Given the description of an element on the screen output the (x, y) to click on. 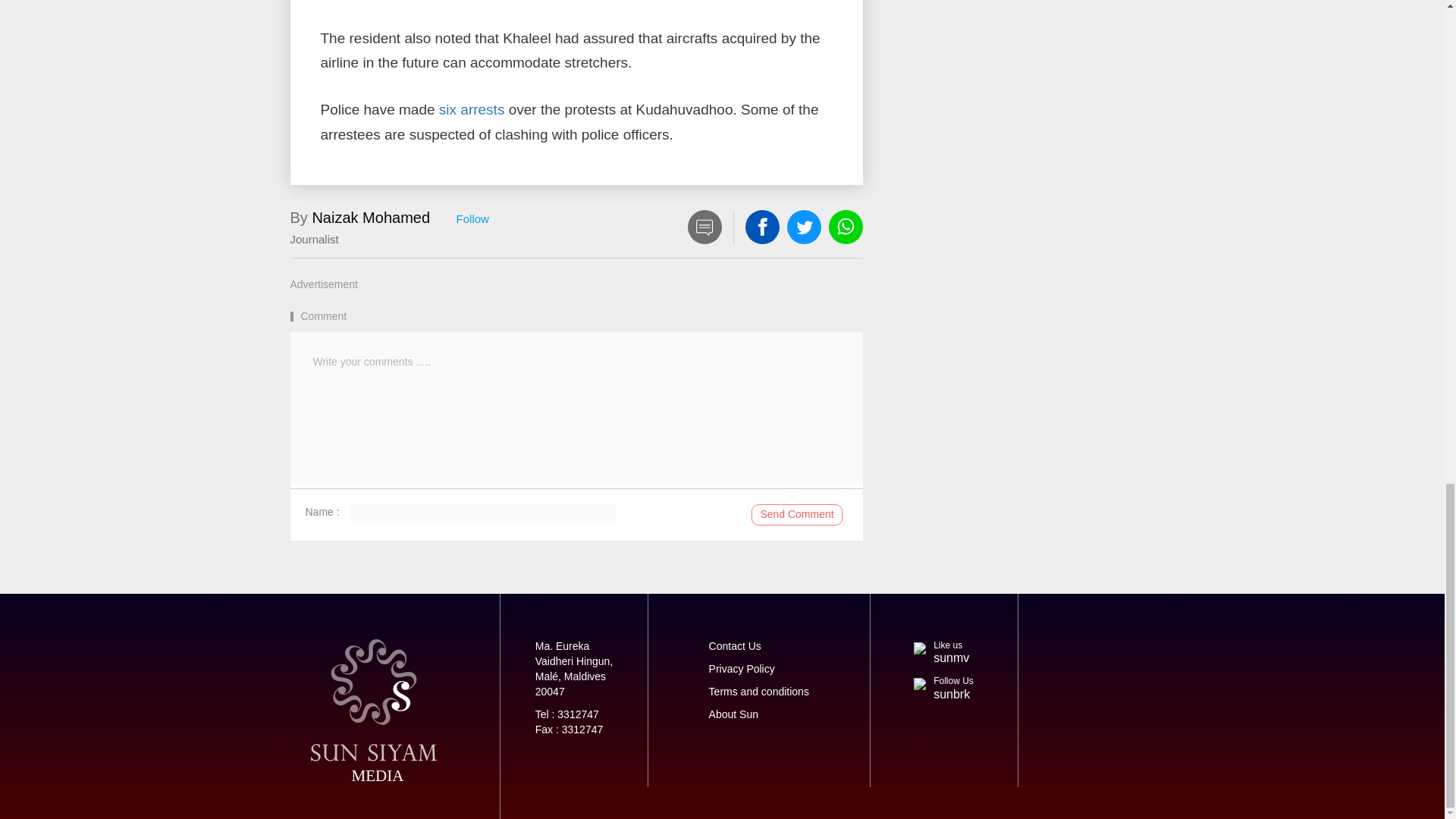
Naizak Mohamed (370, 217)
six arrests (472, 109)
